Given the description of an element on the screen output the (x, y) to click on. 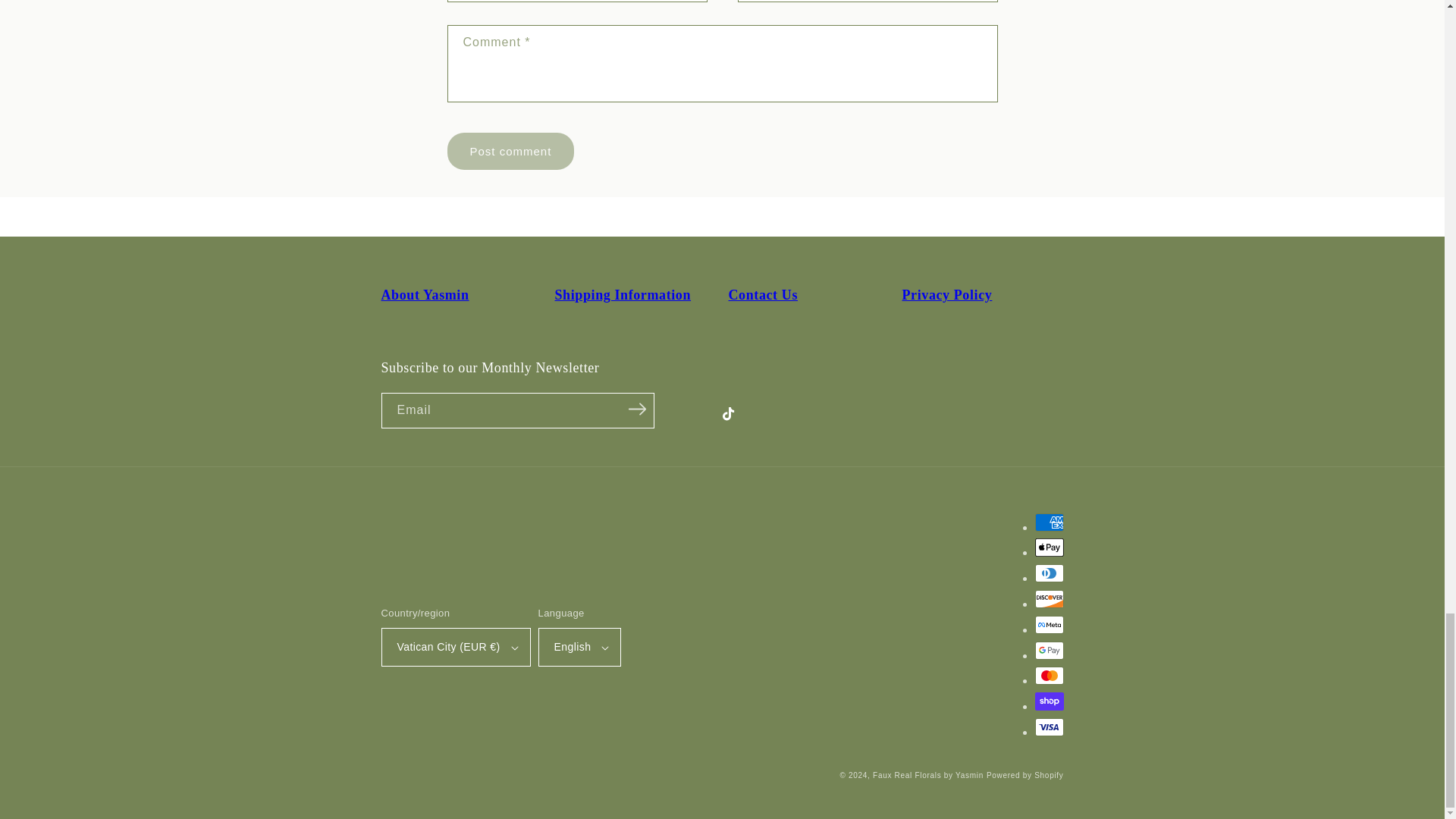
Diners Club (1047, 573)
Google Pay (1047, 650)
Meta Pay (1047, 624)
Visa (1047, 727)
Post comment (510, 150)
Mastercard (1047, 675)
Shop Pay (1047, 701)
Apple Pay (1047, 547)
Discover (1047, 598)
American Express (1047, 522)
